Given the description of an element on the screen output the (x, y) to click on. 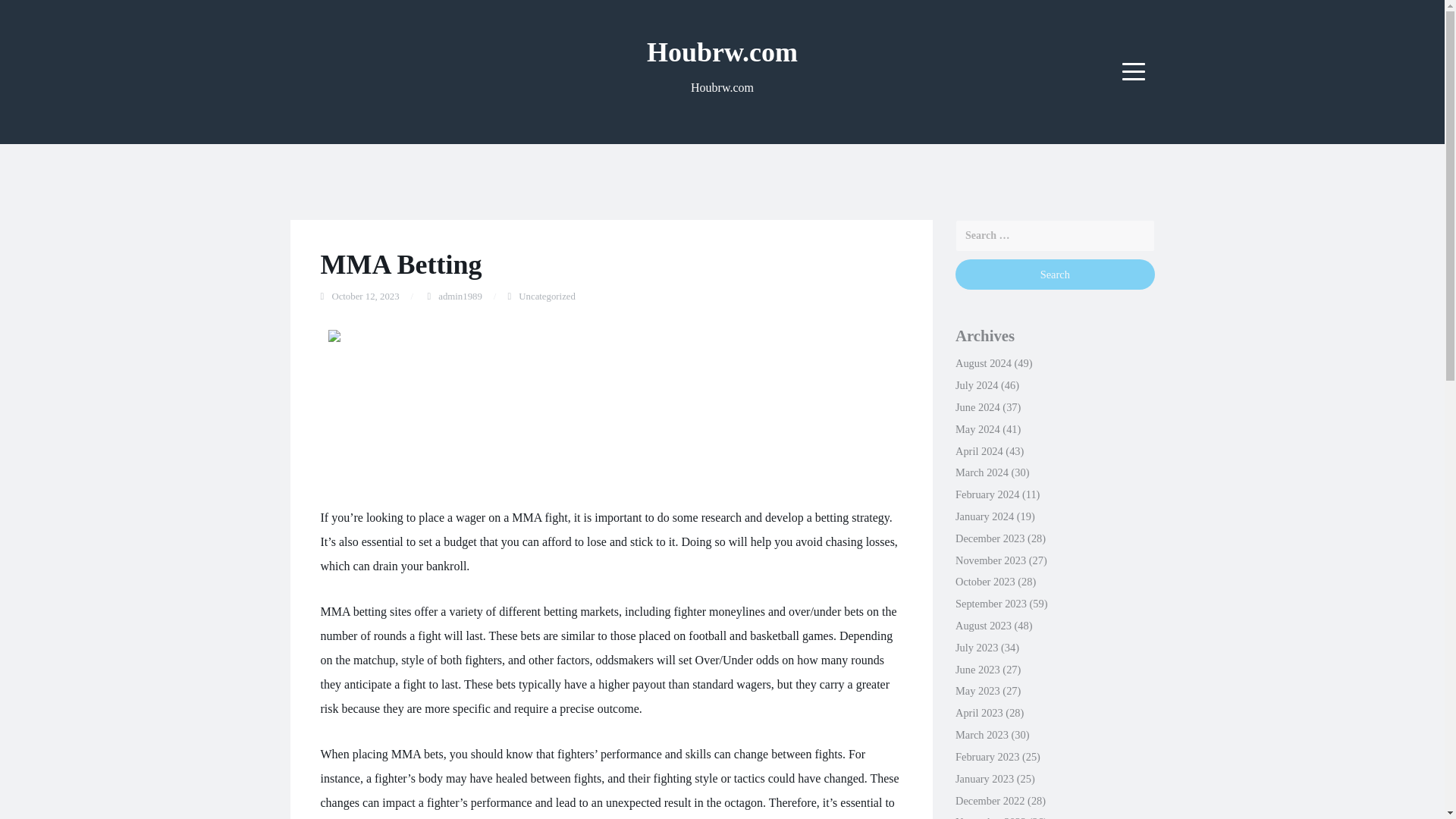
April 2024 (979, 451)
Search (1054, 274)
May 2024 (977, 428)
June 2023 (977, 669)
May 2023 (977, 690)
Houbrw.com (721, 51)
April 2023 (979, 712)
October 2023 (984, 581)
March 2023 (982, 734)
Search (1054, 274)
